Given the description of an element on the screen output the (x, y) to click on. 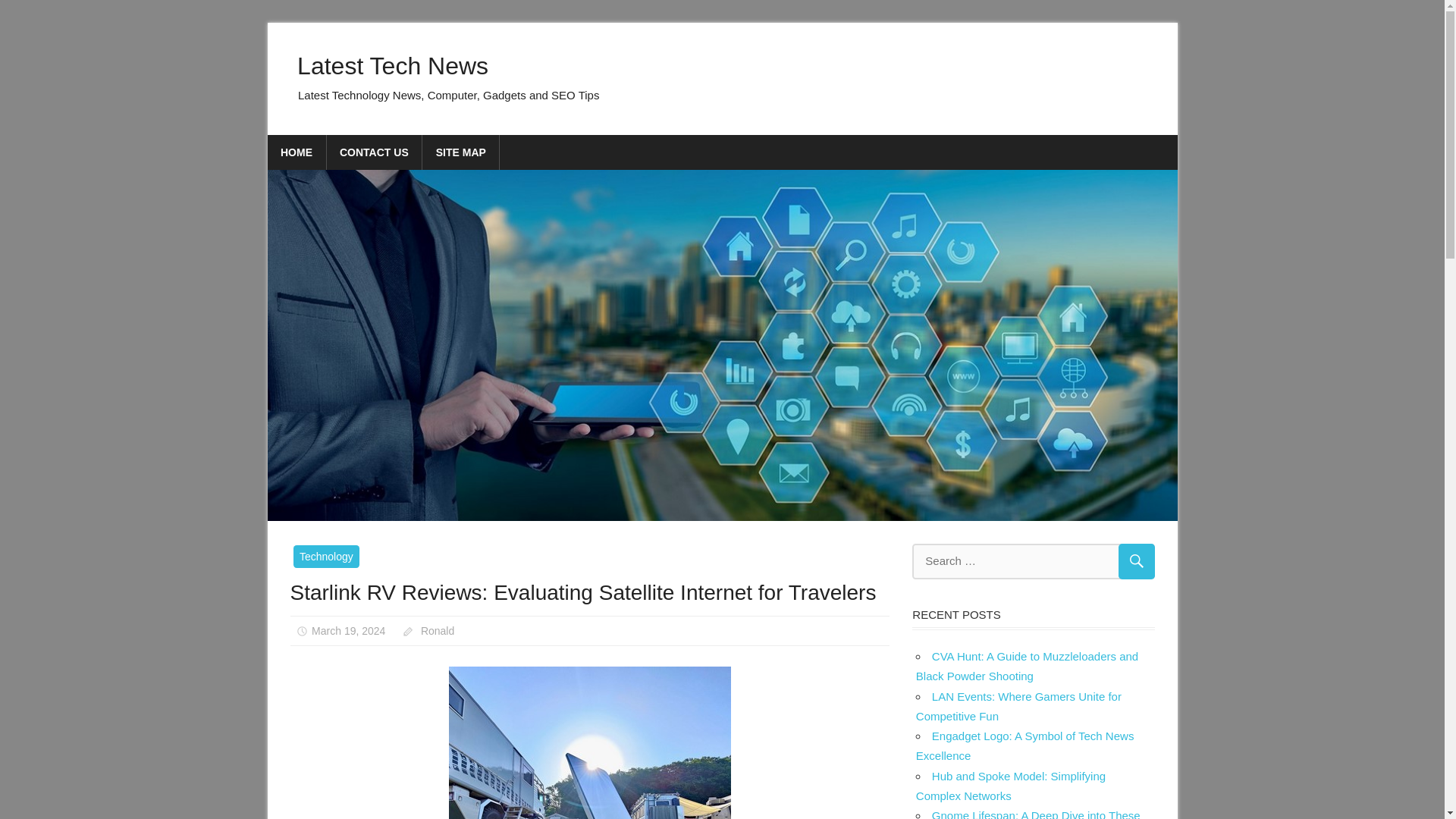
March 19, 2024 (348, 630)
View all posts by Ronald (437, 630)
Engadget Logo: A Symbol of Tech News Excellence (1024, 745)
HOME (296, 152)
Search for: (1033, 561)
Latest Tech News (392, 65)
CONTACT US (374, 152)
Technology (325, 556)
Ronald (437, 630)
SITE MAP (460, 152)
